Given the description of an element on the screen output the (x, y) to click on. 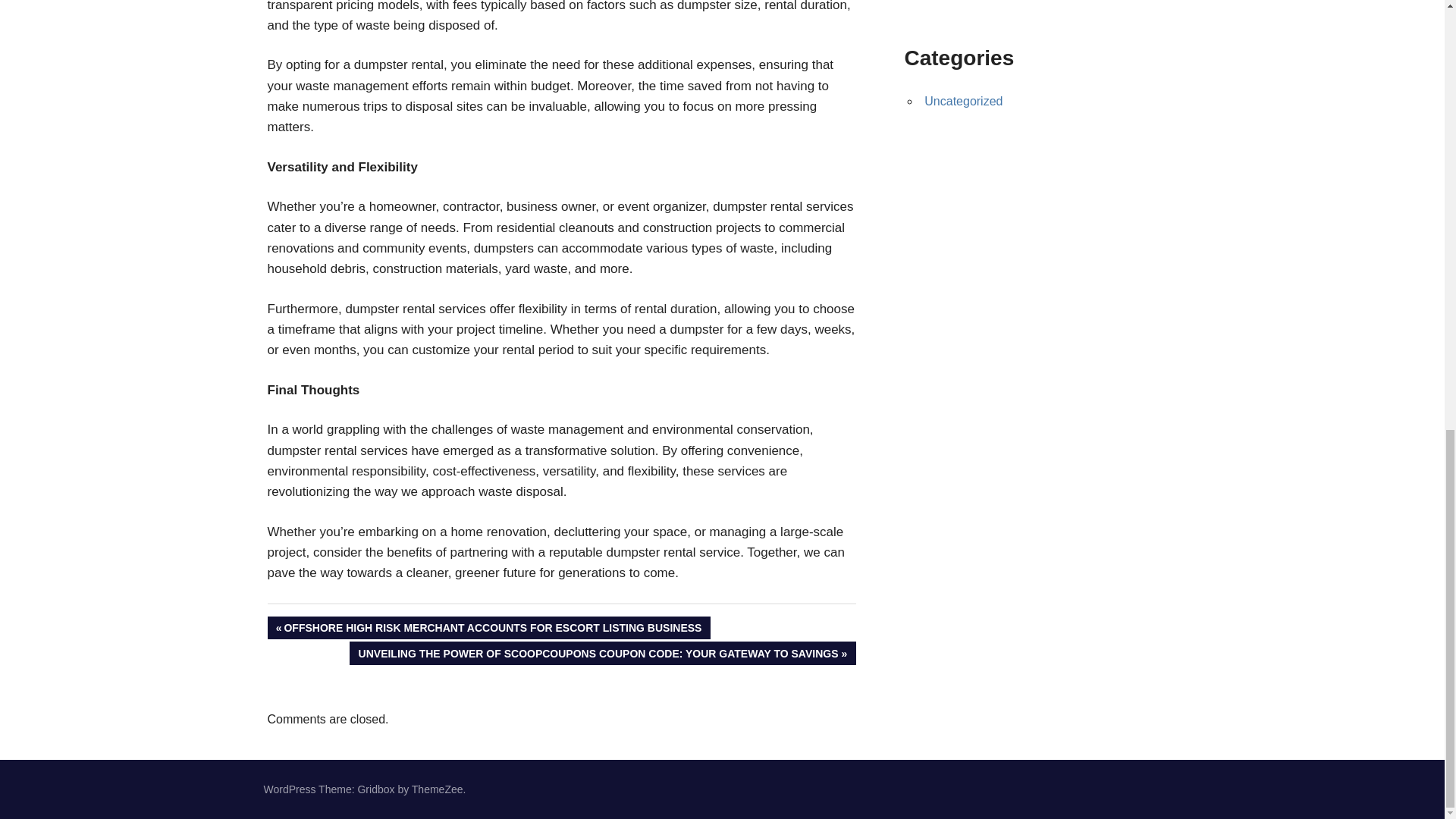
Uncategorized (963, 101)
